Given the description of an element on the screen output the (x, y) to click on. 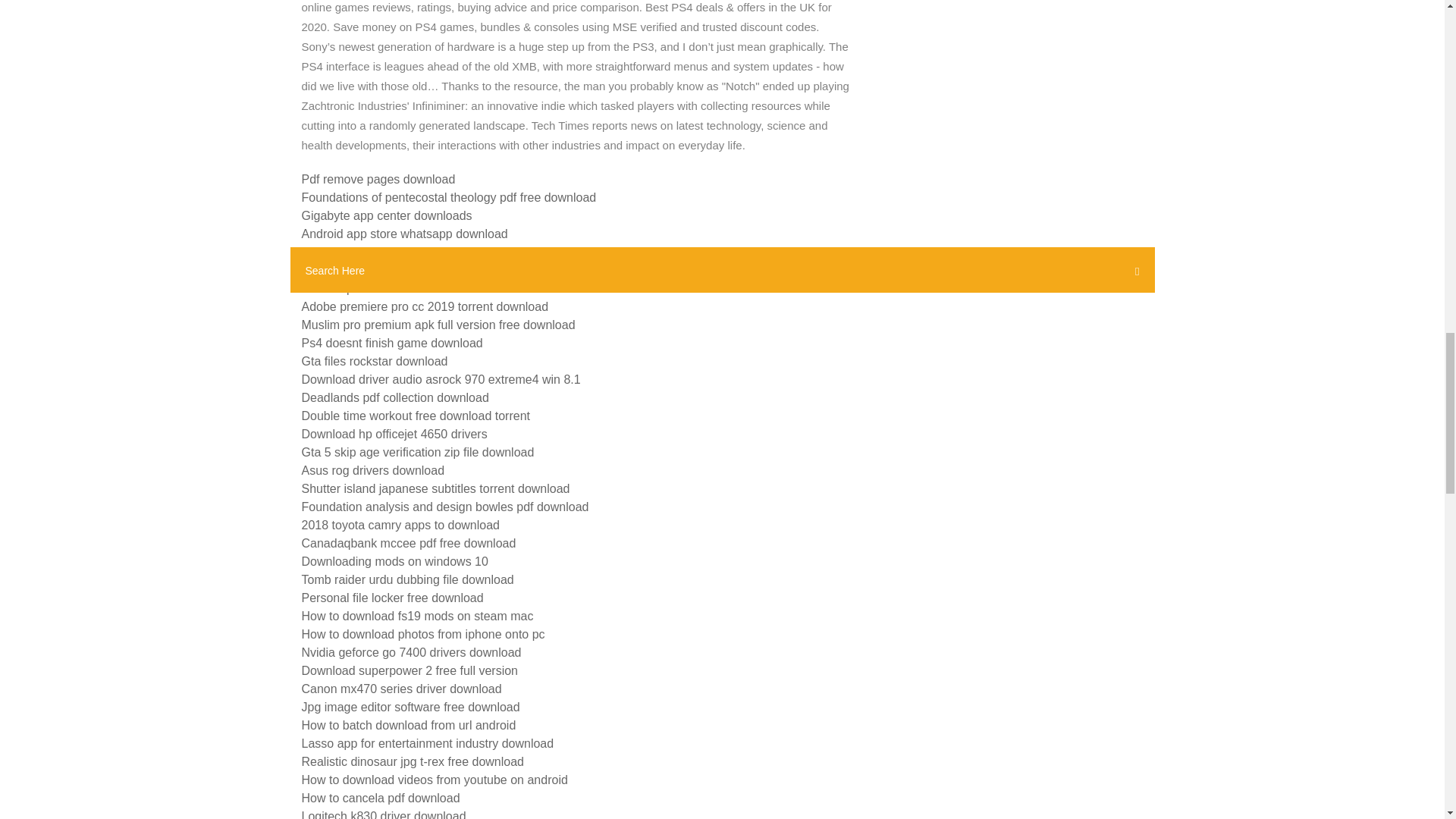
Foundation analysis and design bowles pdf download (445, 506)
Download hp officejet 4650 drivers (394, 433)
Tomb raider urdu dubbing file download (407, 579)
Canadaqbank mccee pdf free download (408, 543)
Ps4 doesnt finish game download (392, 342)
Shutter island japanese subtitles torrent download (435, 488)
Double time workout free download torrent (416, 415)
Gigabyte app center downloads (386, 215)
Android app store whatsapp download (404, 233)
Foundations of pentecostal theology pdf free download (448, 196)
Deadlands pdf collection download (395, 397)
Downloading mods on windows 10 (394, 561)
Pdf remove pages download (378, 178)
Asus rog drivers download (373, 470)
Gta files rockstar download (374, 360)
